Given the description of an element on the screen output the (x, y) to click on. 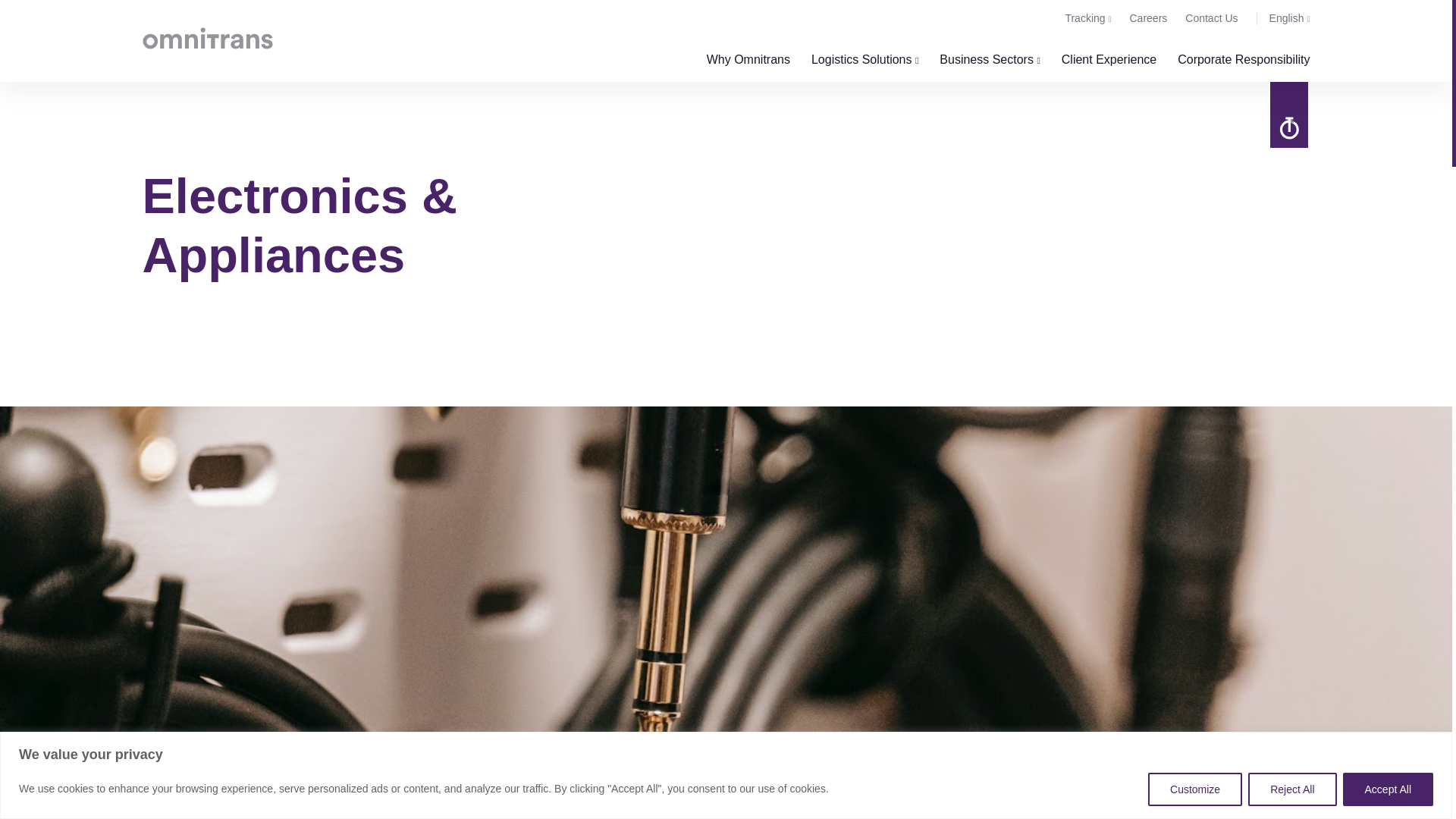
Tracking (1087, 18)
Client Experience (1108, 58)
Reject All (1291, 788)
Contact Us (1211, 18)
Careers (1148, 18)
Corporate Responsibility (1242, 58)
Accept All (1387, 788)
Why Omnitrans (748, 58)
Customize (1194, 788)
